Given the description of an element on the screen output the (x, y) to click on. 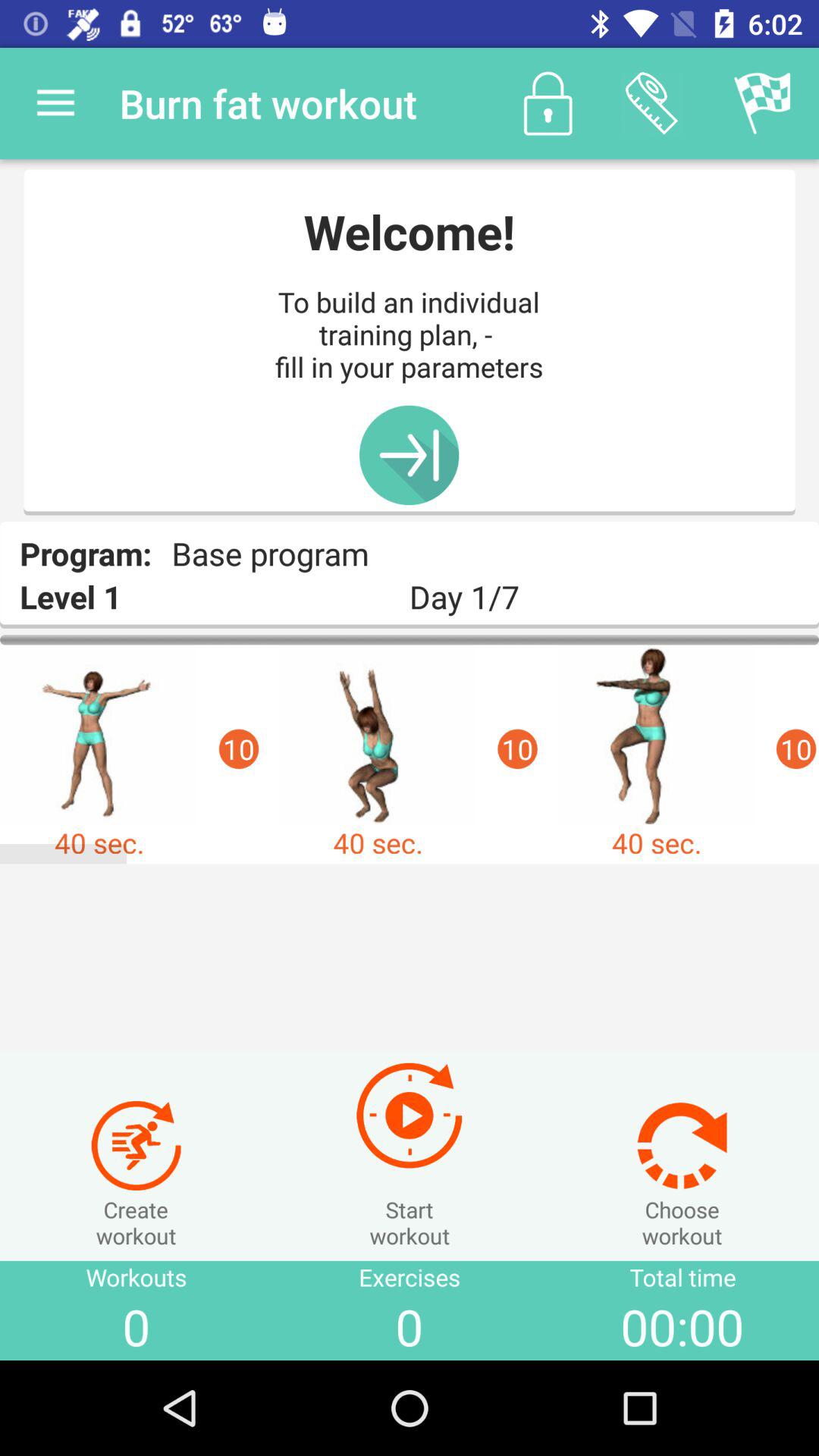
launch item above the day 1/7 (763, 103)
